Given the description of an element on the screen output the (x, y) to click on. 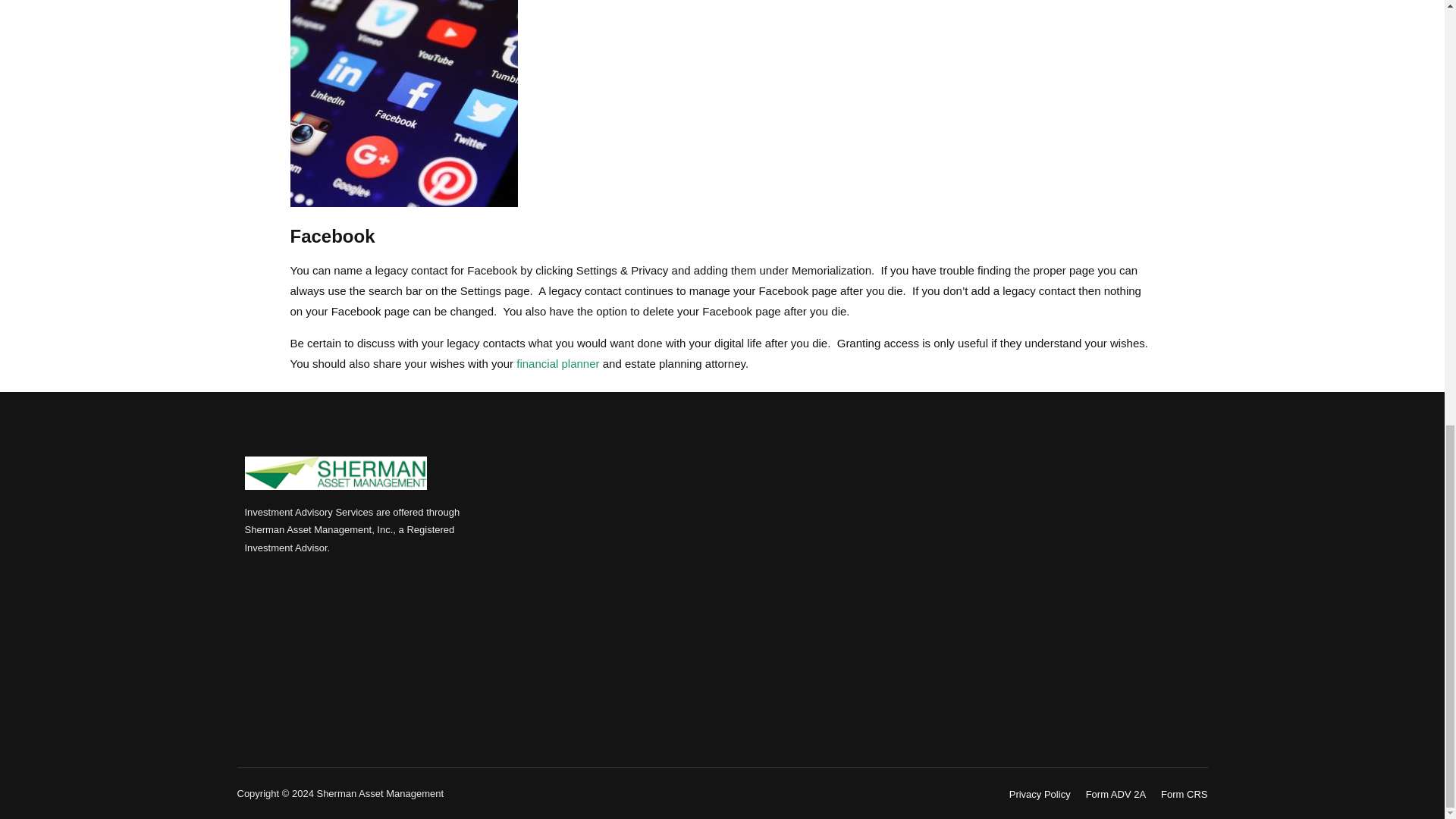
Form CRS (1183, 794)
Privacy Policy (1039, 794)
financial planner (557, 363)
Form ADV 2A (1115, 794)
